Given the description of an element on the screen output the (x, y) to click on. 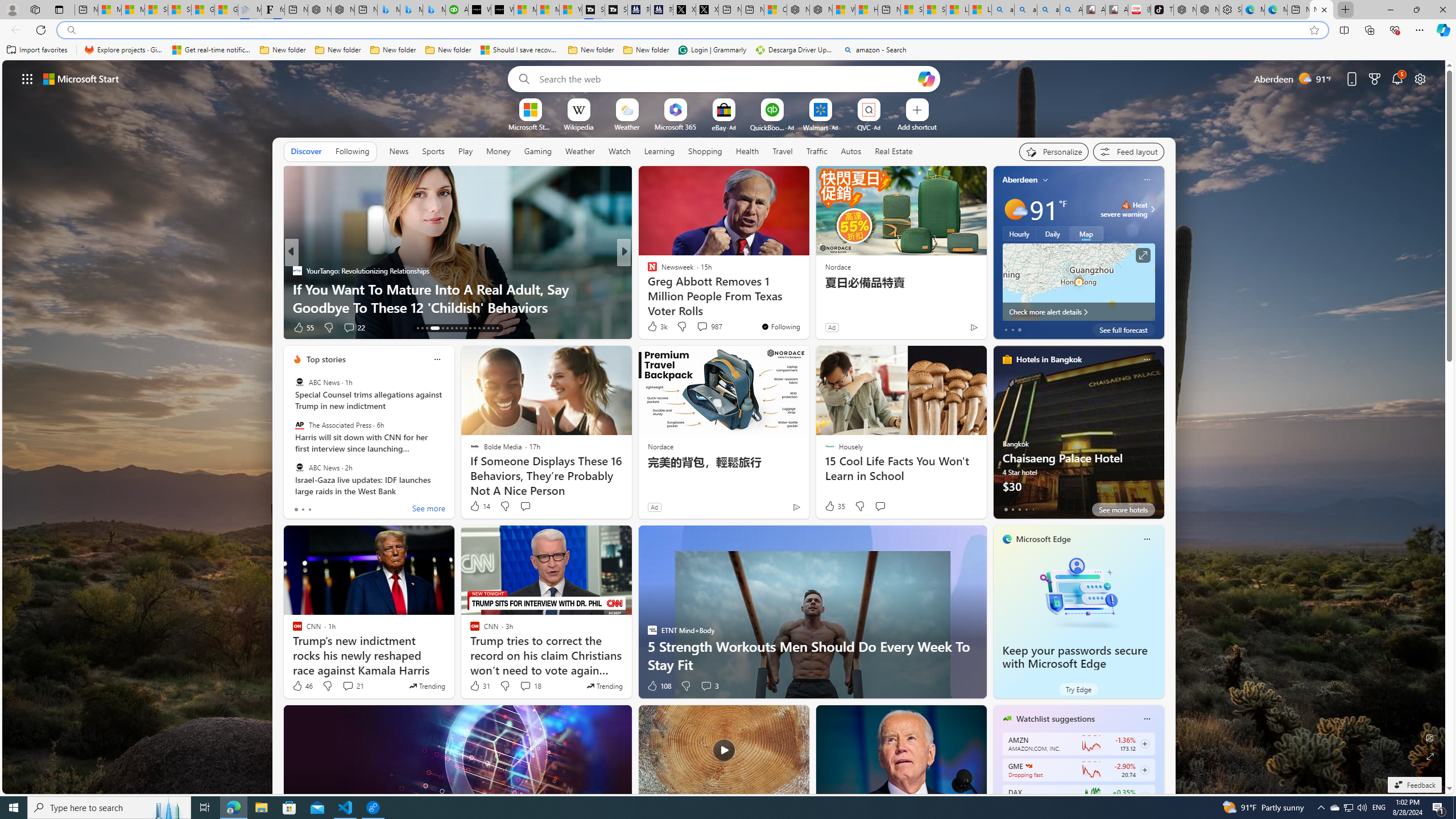
Nordace - Best Sellers (1185, 9)
Watchlist suggestions (1055, 718)
Class: weather-arrow-glyph (1152, 208)
Class: icon-img (1146, 718)
AutomationID: tab-19 (451, 328)
AutomationID: tab-24 (474, 328)
View comments 85 Comment (698, 327)
